Given the description of an element on the screen output the (x, y) to click on. 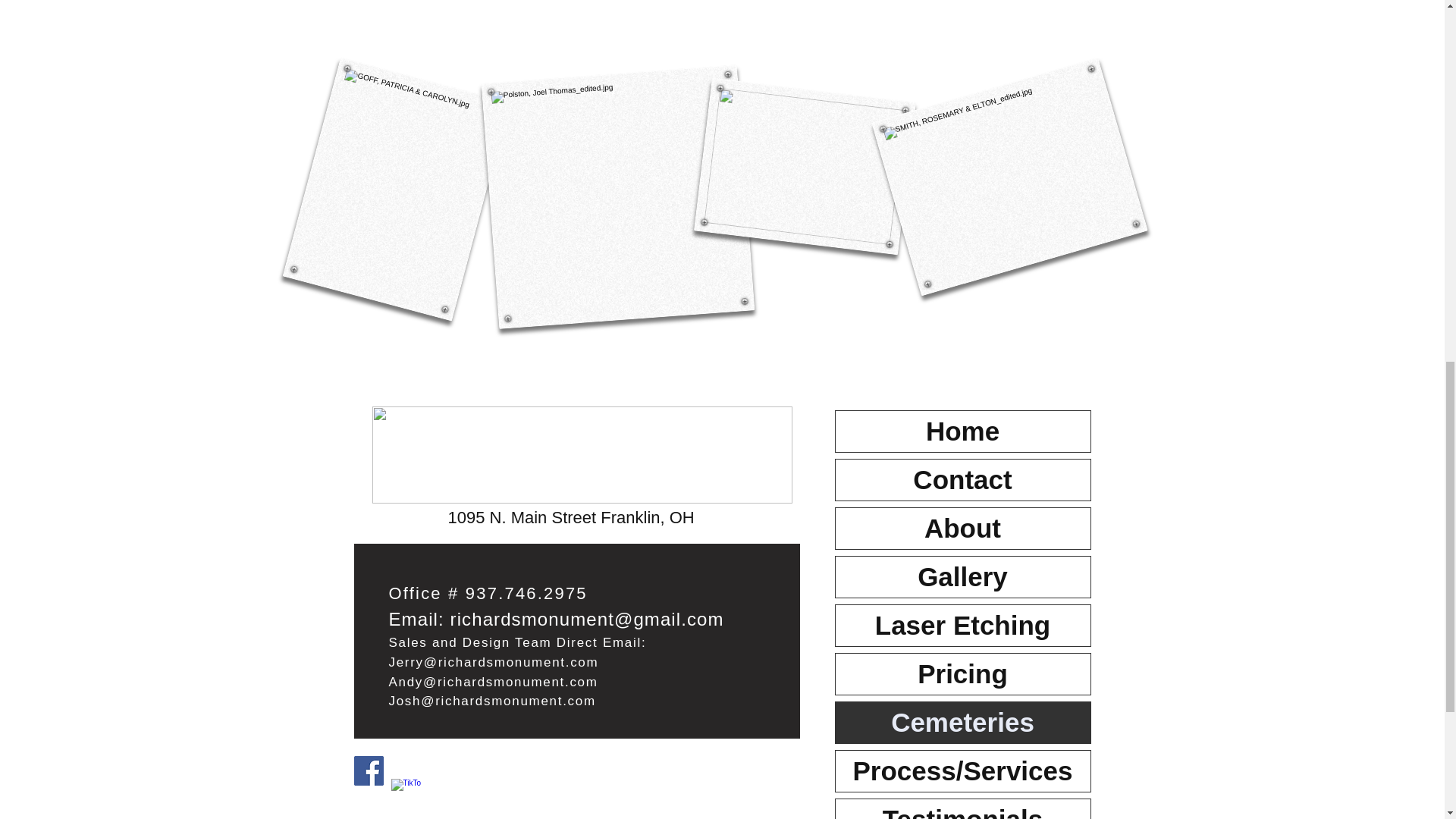
Laser Etching (962, 625)
Home (962, 431)
Gallery (962, 576)
About (962, 527)
Contact (962, 479)
